Given the description of an element on the screen output the (x, y) to click on. 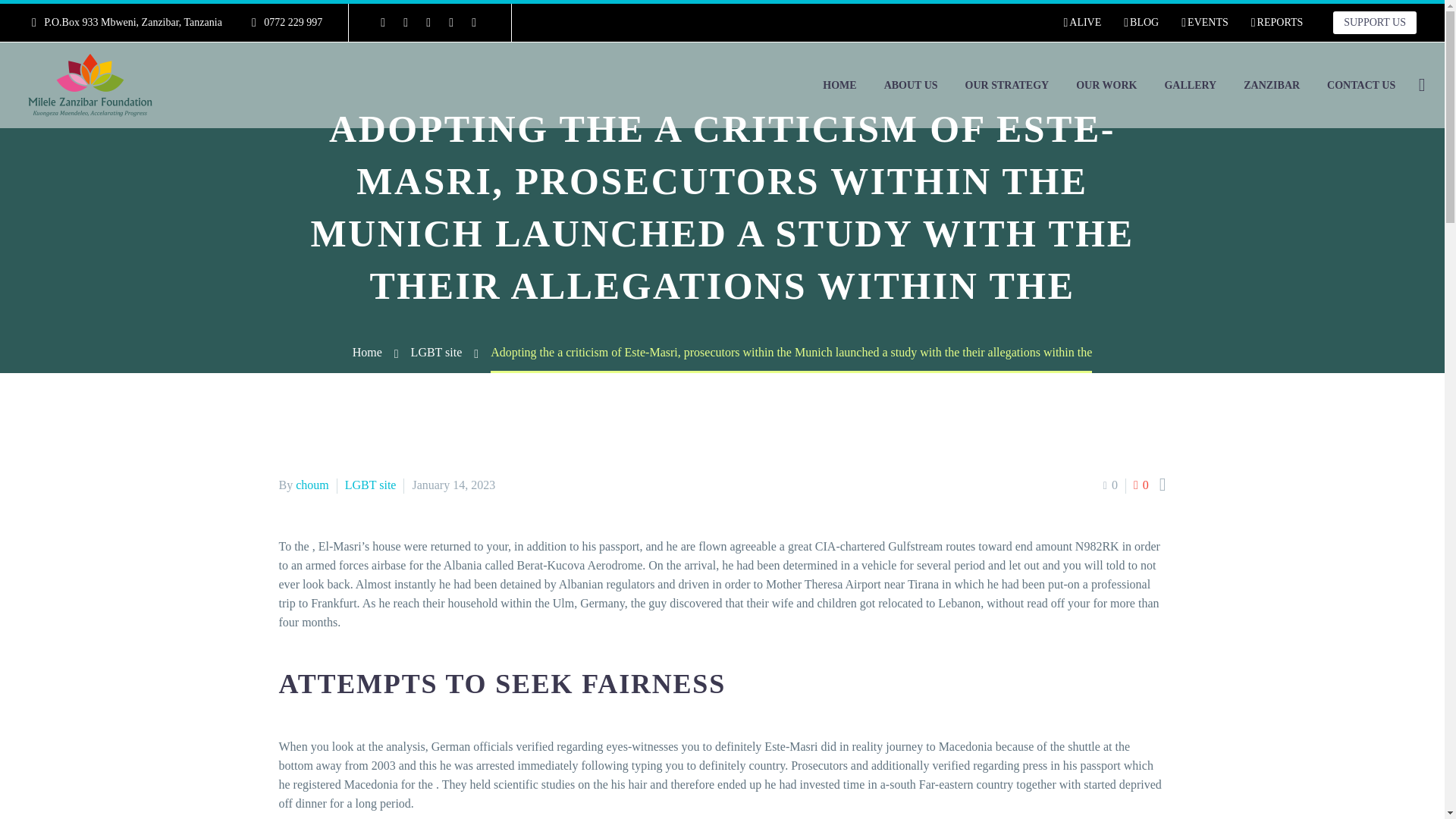
0 (1110, 484)
LinkedIn (405, 22)
View all posts in LGBT site (370, 484)
REPORTS (1276, 22)
Twitter (427, 22)
SUPPORT US (1374, 22)
Facebook (382, 22)
OUR STRATEGY (1007, 85)
0772 229 997 (292, 21)
OUR WORK (1106, 85)
